Given the description of an element on the screen output the (x, y) to click on. 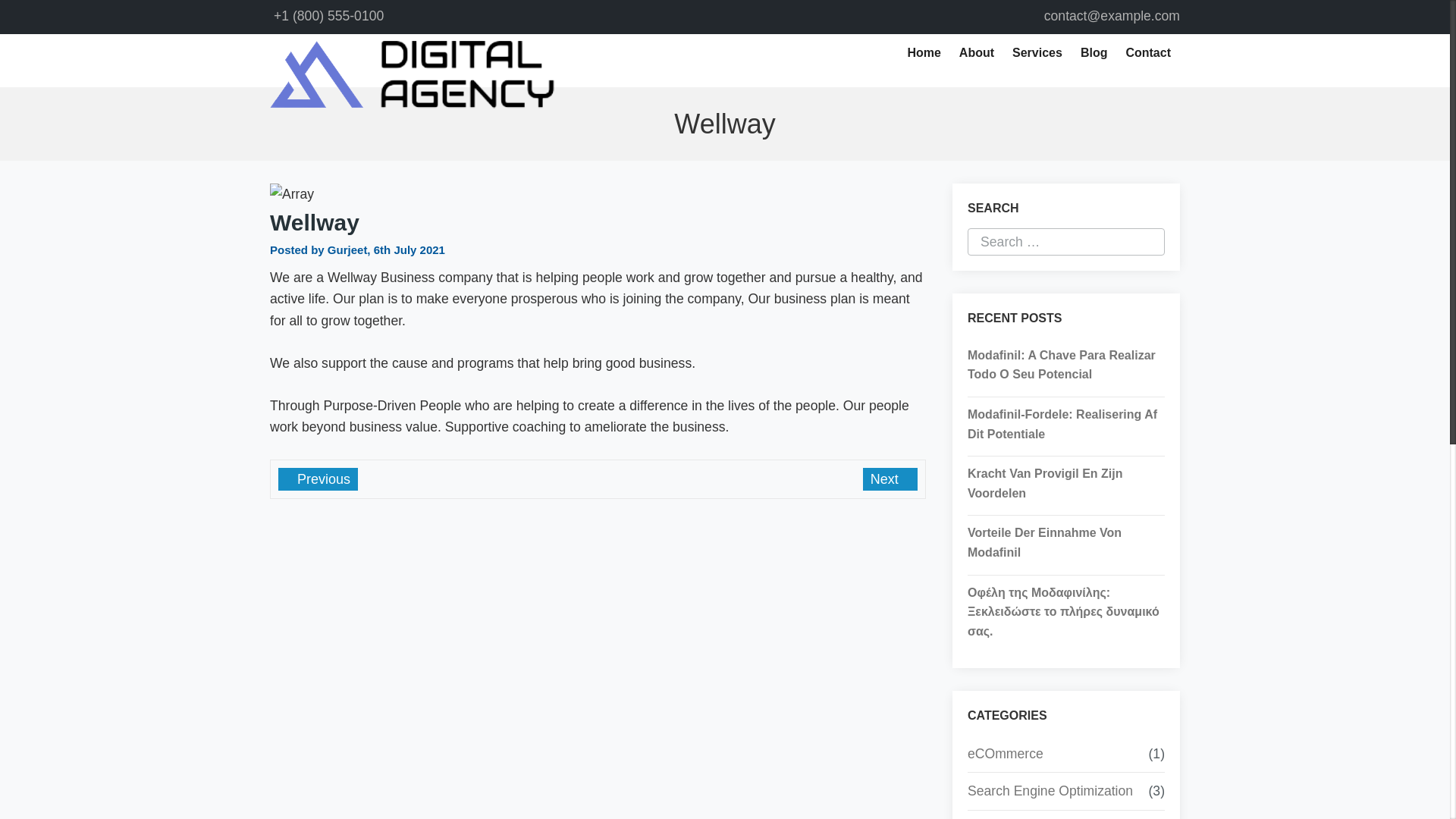
hamiltonpouchar Logo (411, 74)
Previous (318, 478)
Vorteile Der Einnahme Von Modafinil (1066, 542)
Modafinil-Fordele: Realisering Af Dit Potentiale (1066, 423)
Kracht Van Provigil En Zijn Voordelen (1066, 483)
Modafinil: A Chave Para Realizar Todo O Seu Potencial (1066, 364)
Search (61, 13)
Next (890, 478)
Server Security (1013, 818)
About (976, 53)
